Given the description of an element on the screen output the (x, y) to click on. 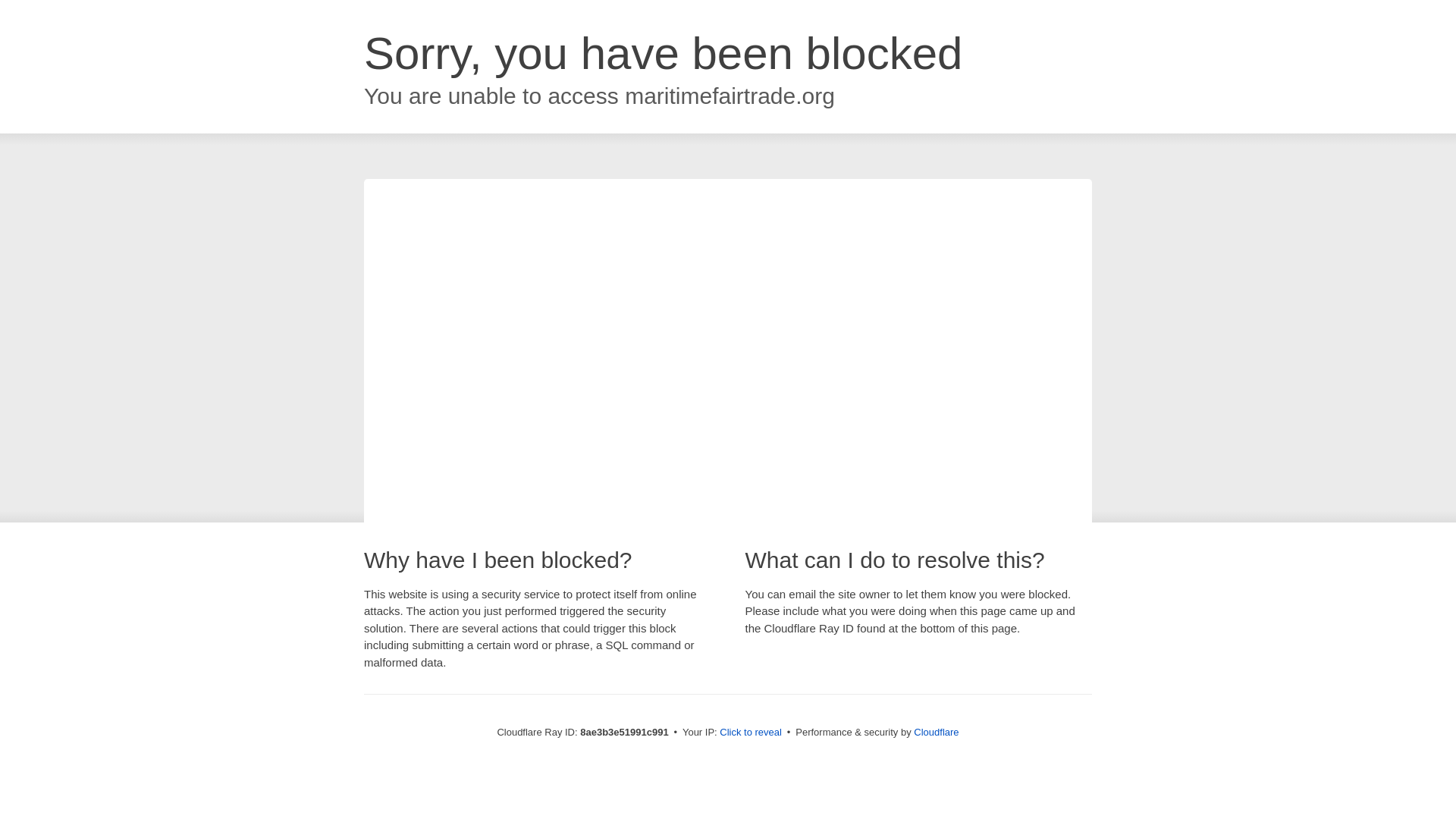
Cloudflare (936, 731)
Click to reveal (750, 732)
